Given the description of an element on the screen output the (x, y) to click on. 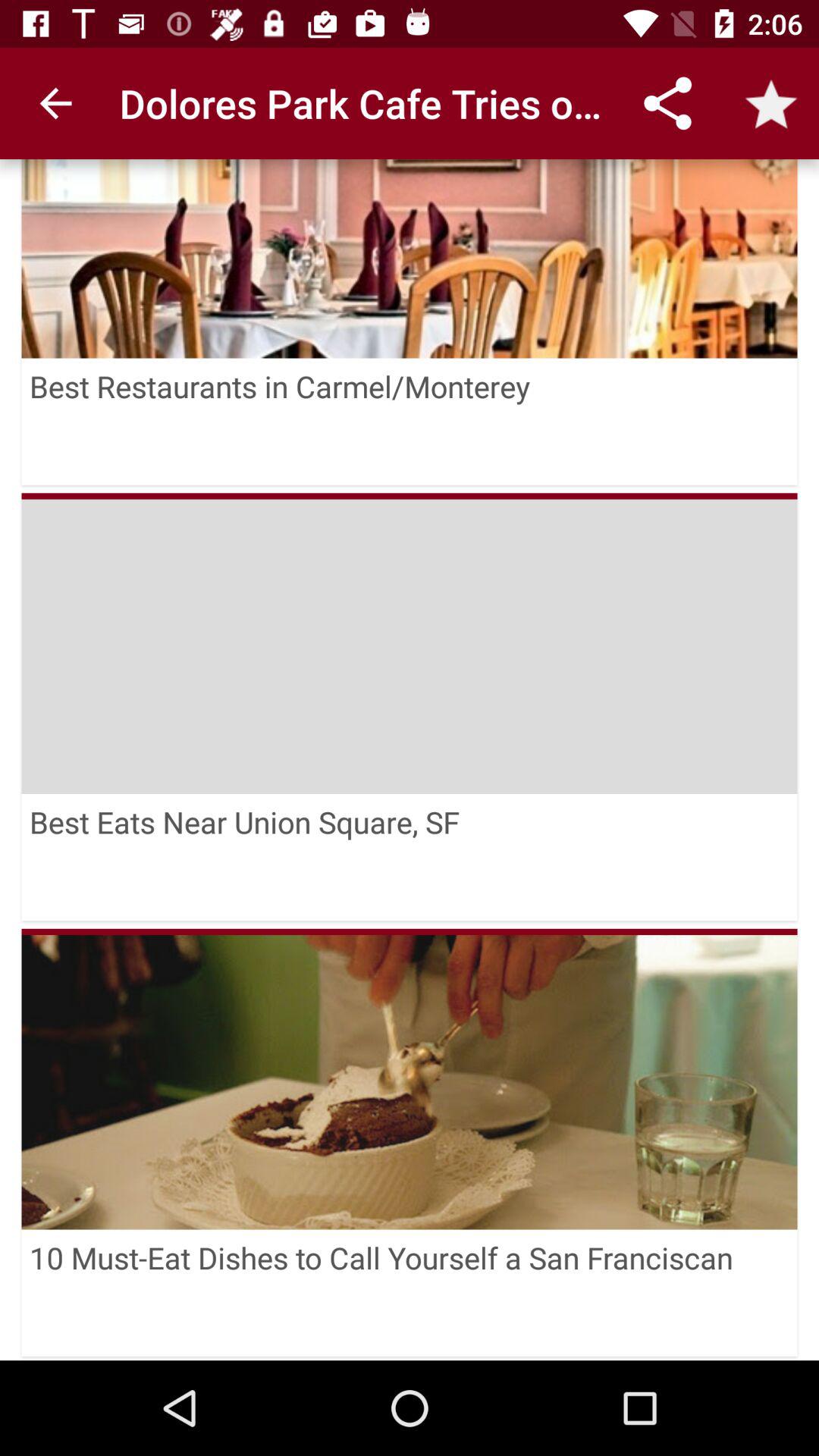
flip until the best restaurants in (409, 421)
